Given the description of an element on the screen output the (x, y) to click on. 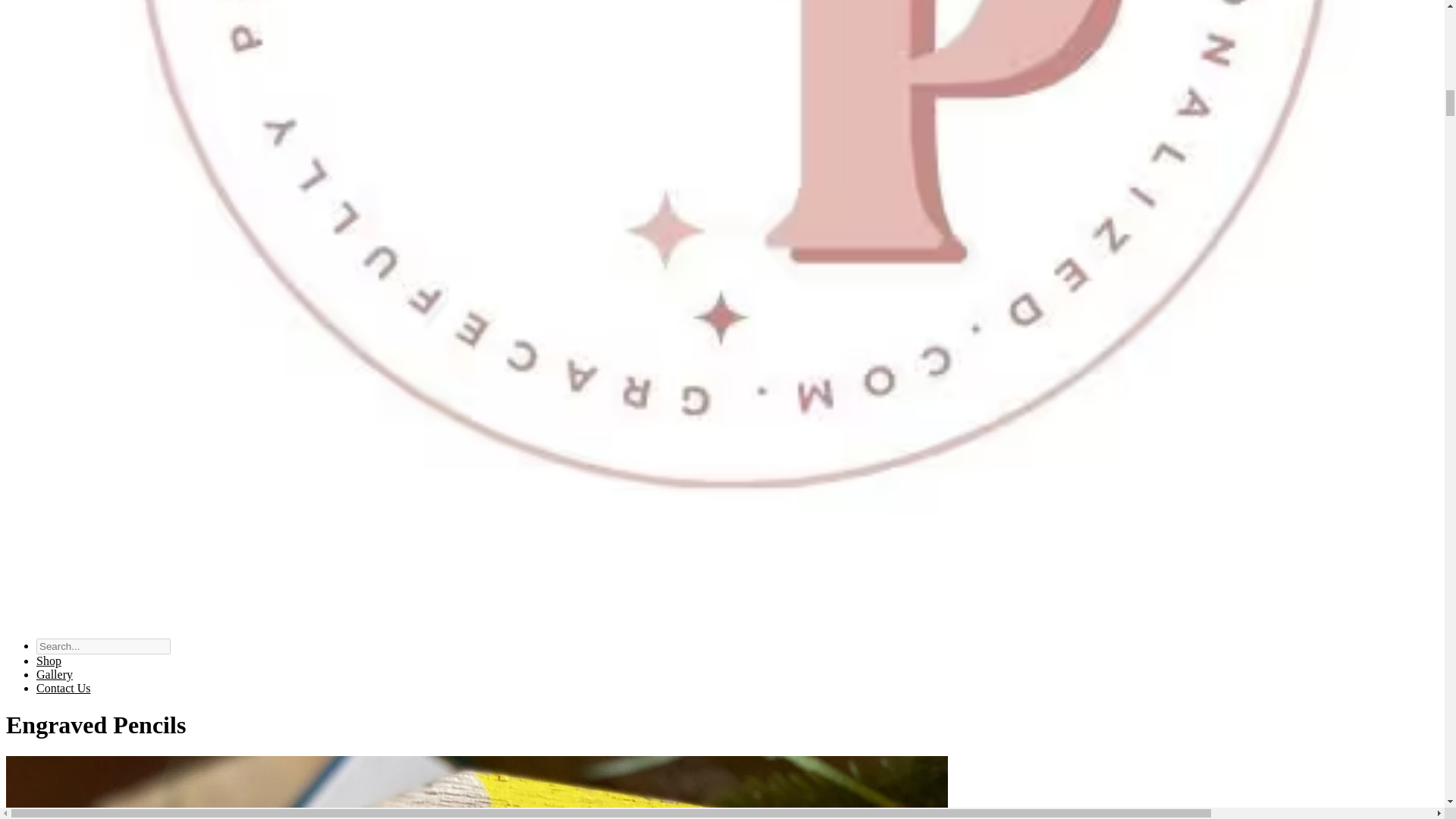
Contact Us (63, 687)
Shop (48, 660)
Gallery (54, 674)
